Given the description of an element on the screen output the (x, y) to click on. 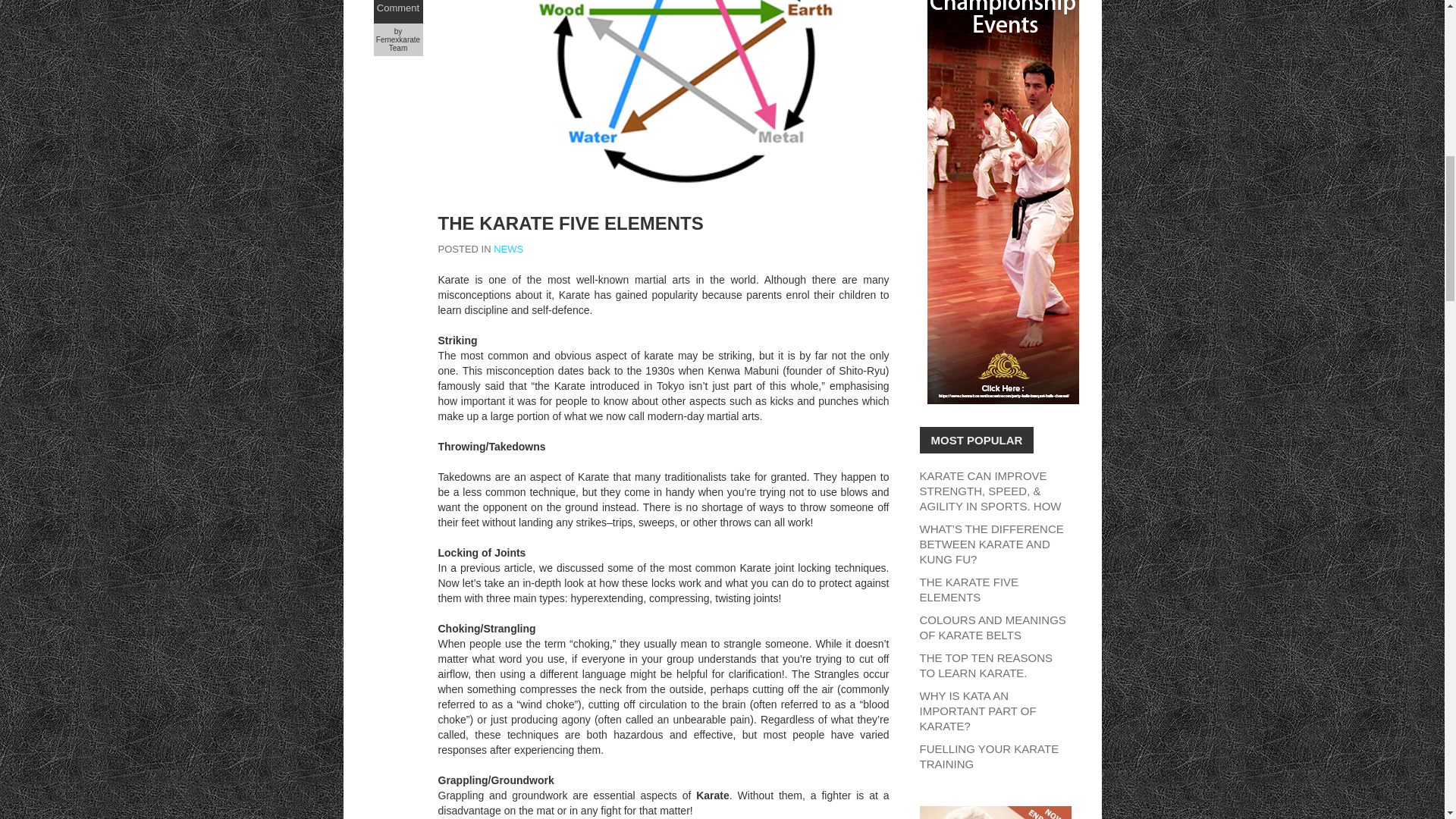
NEWS (507, 248)
THE KARATE FIVE ELEMENTS (967, 589)
WHY IS KATA AN IMPORTANT PART OF KARATE? (976, 710)
THE KARATE FIVE ELEMENTS (570, 222)
The Karate Five Elements (570, 222)
FUELLING YOUR KARATE TRAINING (988, 756)
Comment (397, 7)
No (397, 0)
COLOURS AND MEANINGS OF KARATE BELTS (991, 627)
THE TOP TEN REASONS TO LEARN KARATE. (985, 665)
